Given the description of an element on the screen output the (x, y) to click on. 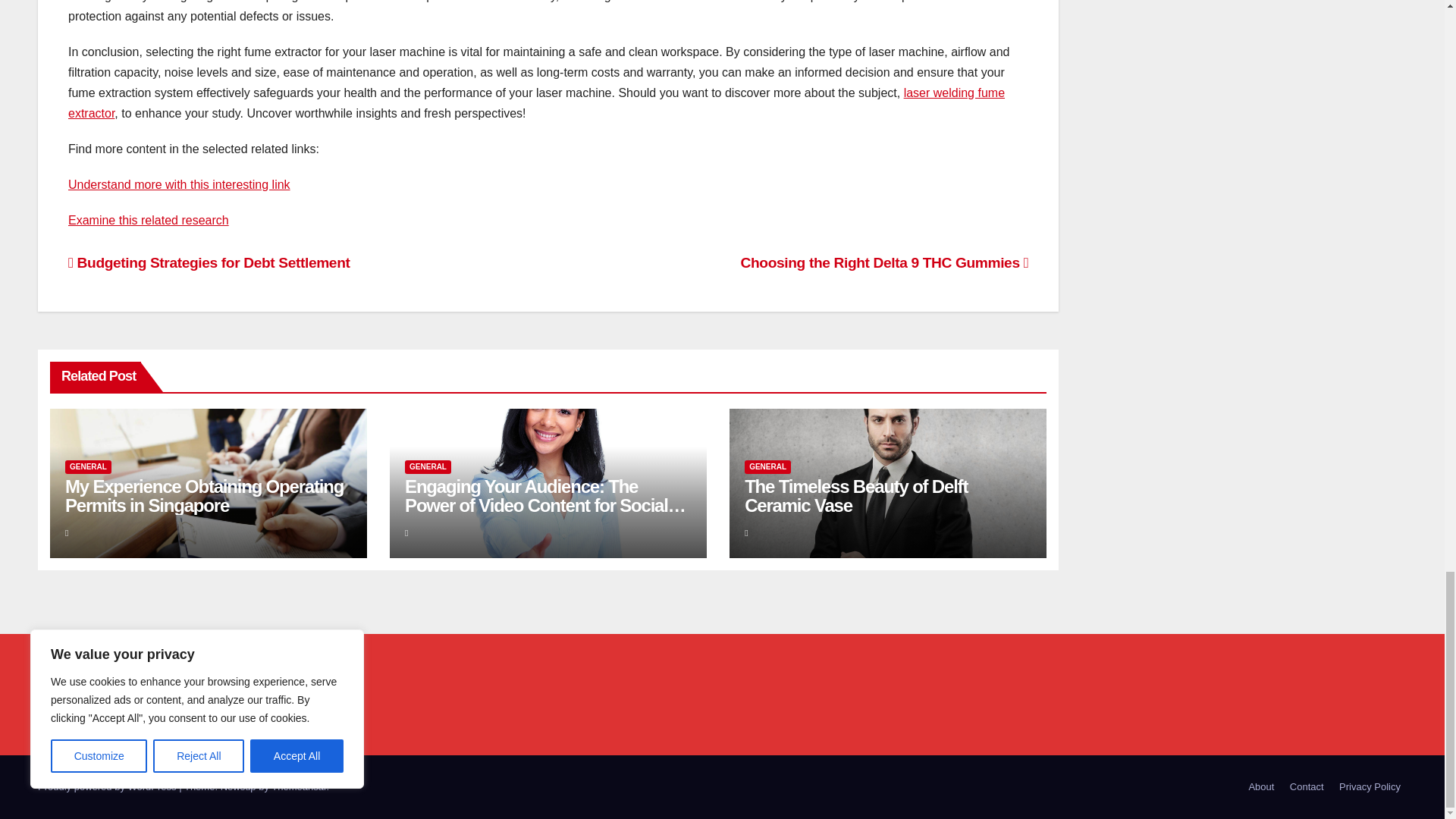
The Timeless Beauty of Delft Ceramic Vase (856, 495)
laser welding fume extractor (536, 102)
Permalink to: The Timeless Beauty of Delft Ceramic Vase (856, 495)
Budgeting Strategies for Debt Settlement (208, 262)
About (1260, 786)
Choosing the Right Delta 9 THC Gummies (885, 262)
GENERAL (767, 467)
GENERAL (88, 467)
Privacy Policy (1369, 786)
Contact (1307, 786)
My Experience Obtaining Operating Permits in Singapore (204, 495)
Examine this related research (148, 219)
